Given the description of an element on the screen output the (x, y) to click on. 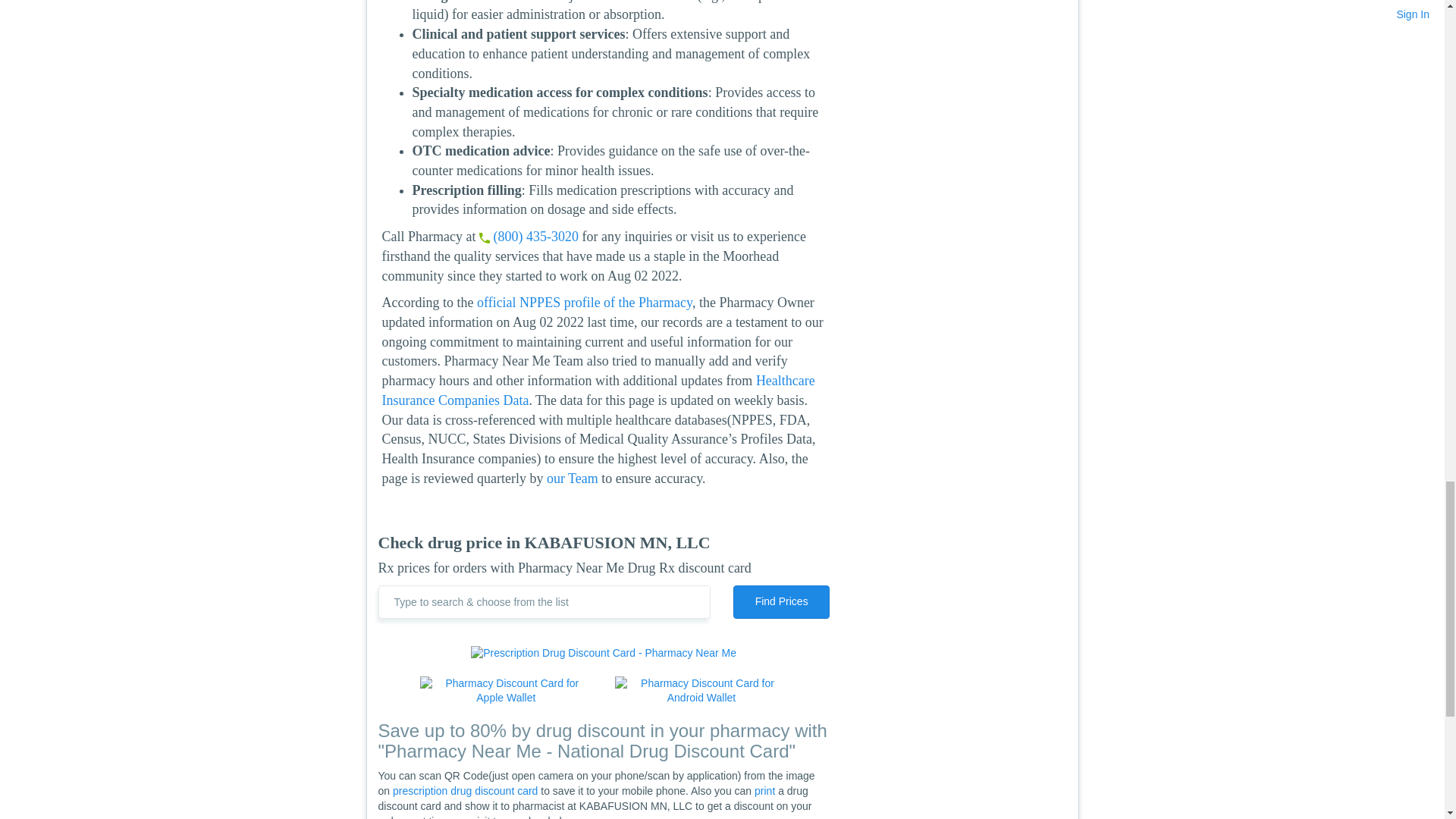
print (764, 790)
official NPPES profile of the Pharmacy (585, 302)
our Team (572, 478)
Healthcare Insurance Companies Data (598, 390)
Find Prices (780, 602)
Find Prices (780, 602)
prescription drug discount card (465, 790)
